Given the description of an element on the screen output the (x, y) to click on. 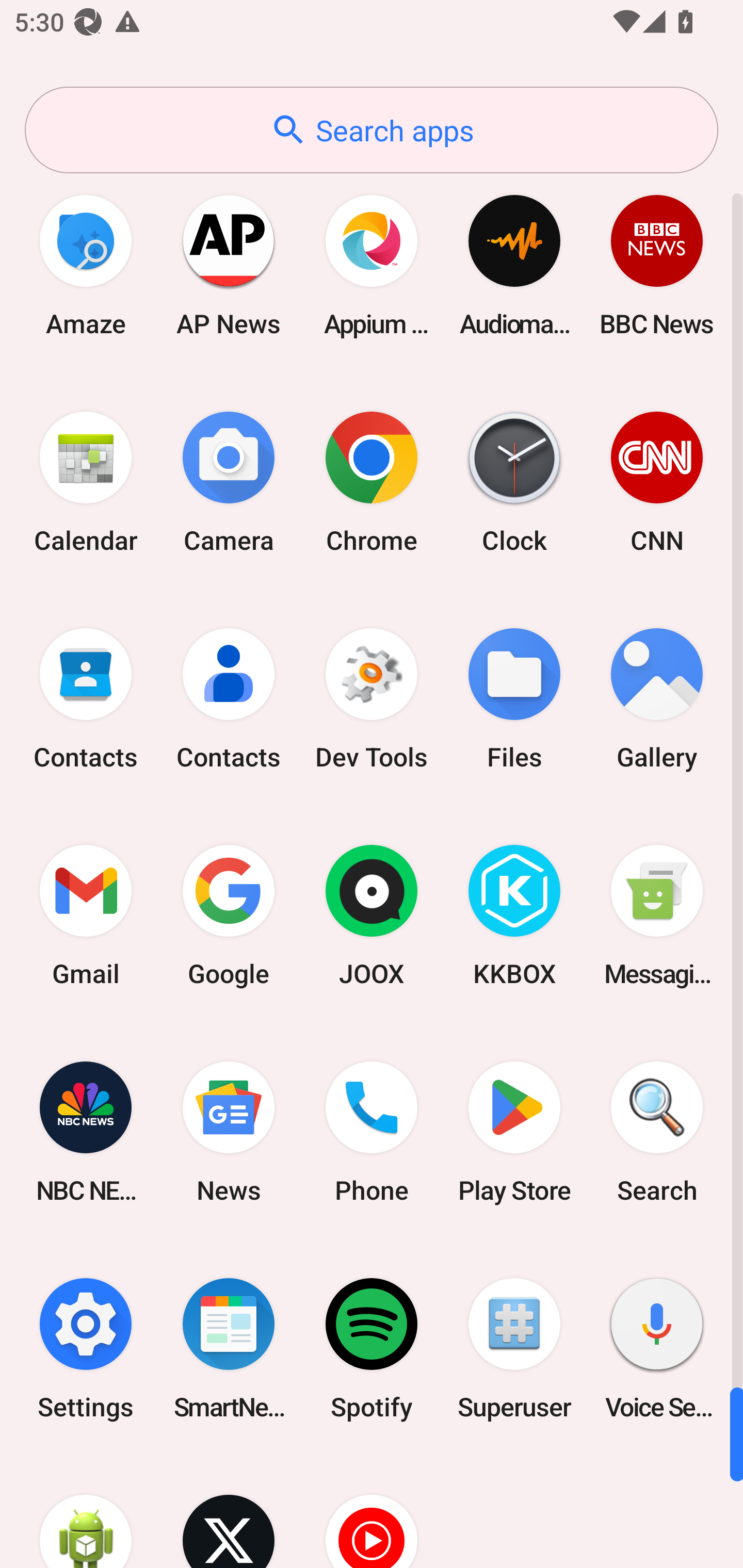
  Search apps (371, 130)
Amaze (85, 264)
AP News (228, 264)
Appium Settings (371, 264)
Audio­mack (514, 264)
BBC News (656, 264)
Calendar (85, 482)
Camera (228, 482)
Chrome (371, 482)
Clock (514, 482)
CNN (656, 482)
Contacts (85, 699)
Contacts (228, 699)
Dev Tools (371, 699)
Files (514, 699)
Gallery (656, 699)
Gmail (85, 915)
Google (228, 915)
JOOX (371, 915)
KKBOX (514, 915)
Messaging (656, 915)
NBC NEWS (85, 1131)
News (228, 1131)
Phone (371, 1131)
Play Store (514, 1131)
Search (656, 1131)
Settings (85, 1348)
SmartNews (228, 1348)
Spotify (371, 1348)
Superuser (514, 1348)
Voice Search (656, 1348)
WebView Browser Tester (85, 1512)
X (228, 1512)
YT Music (371, 1512)
